Given the description of an element on the screen output the (x, y) to click on. 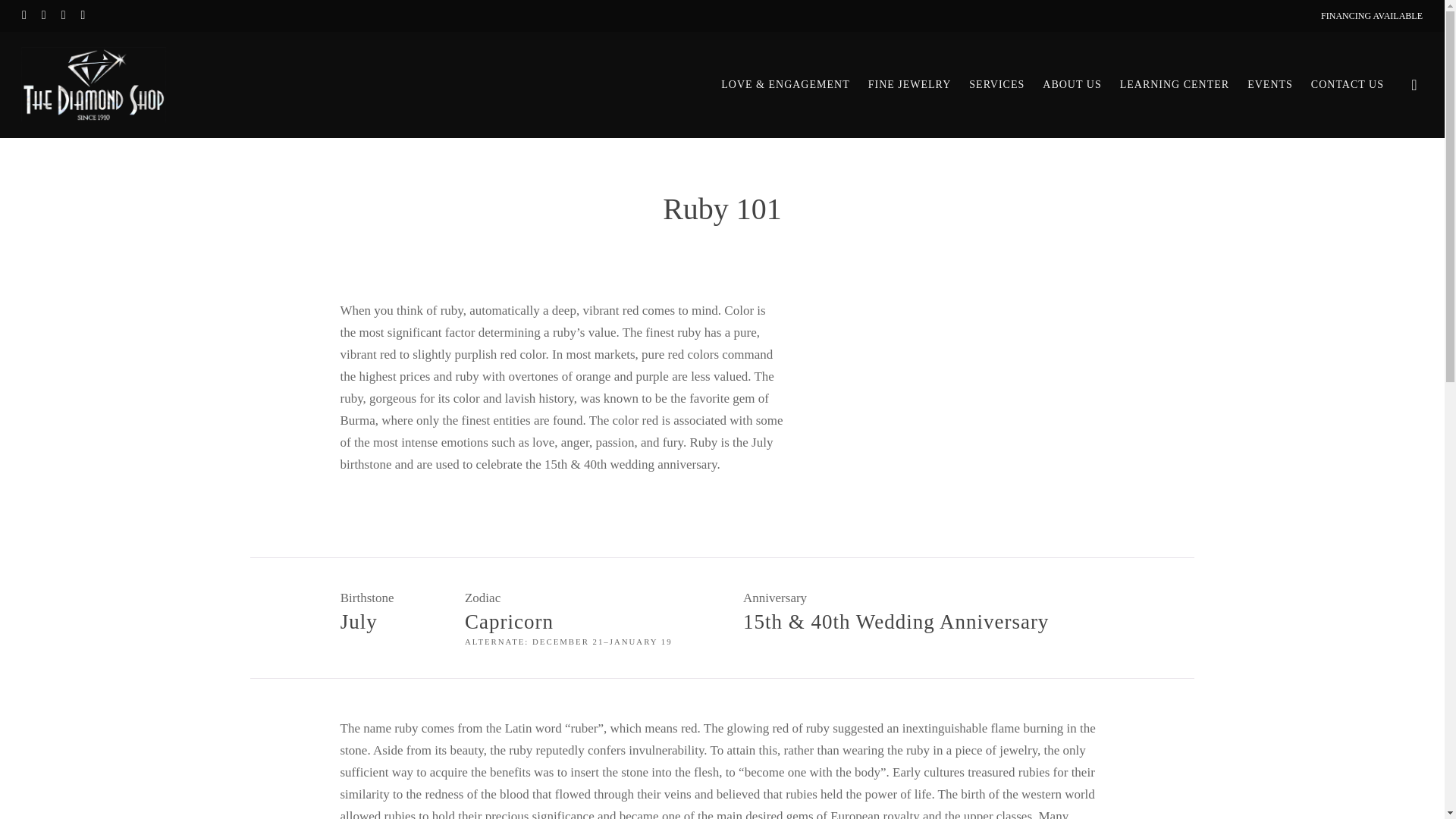
ABOUT US (1071, 84)
search (1414, 84)
LEARNING CENTER (1174, 84)
EVENTS (1269, 84)
SERVICES (997, 84)
CONTACT US (1347, 84)
FINE JEWELRY (909, 84)
FINANCING AVAILABLE (1371, 15)
